Given the description of an element on the screen output the (x, y) to click on. 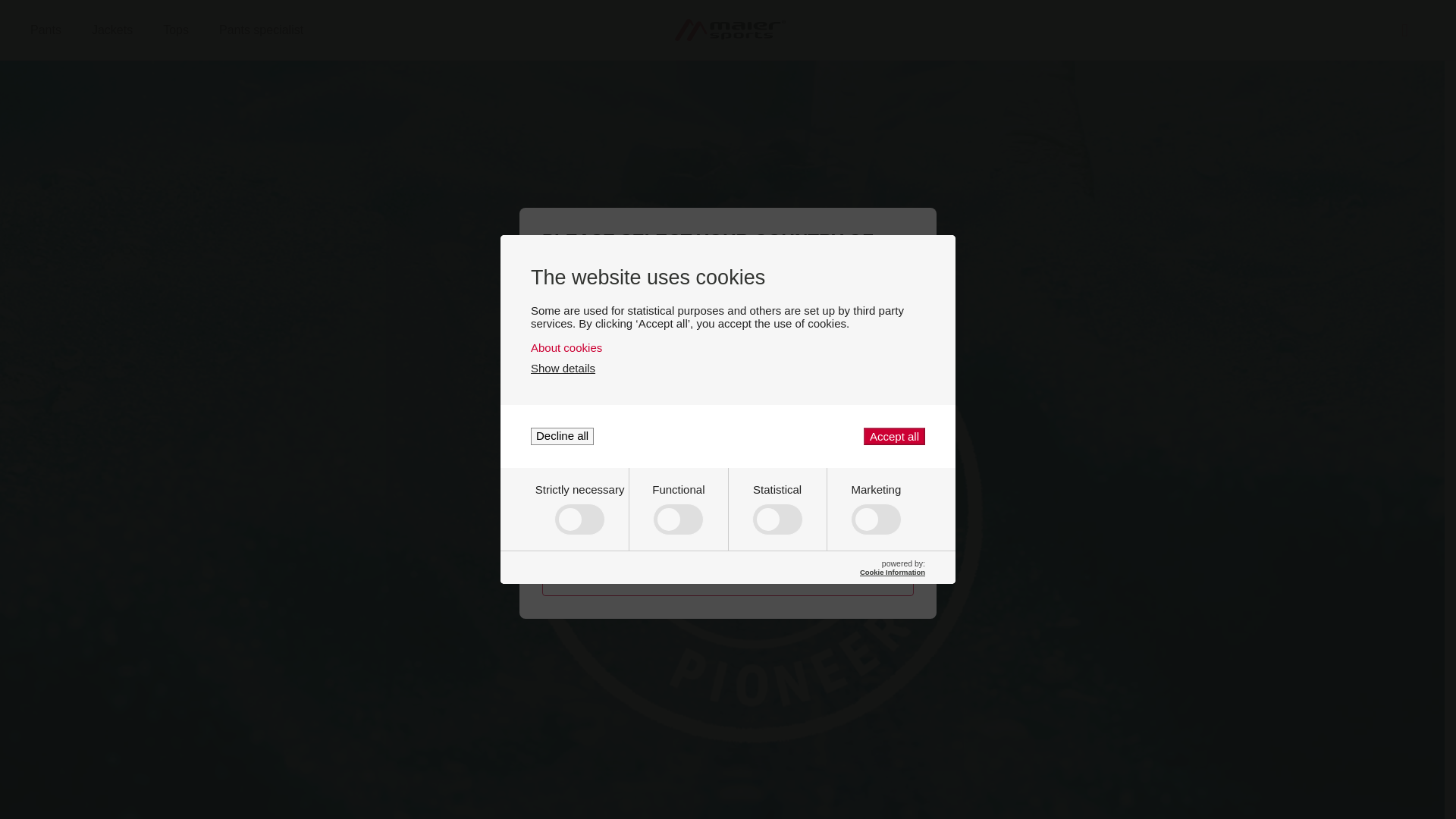
Show details (563, 367)
About cookies (727, 347)
Cookie Information (892, 572)
Decline all (562, 436)
Accept all (174, 30)
